Given the description of an element on the screen output the (x, y) to click on. 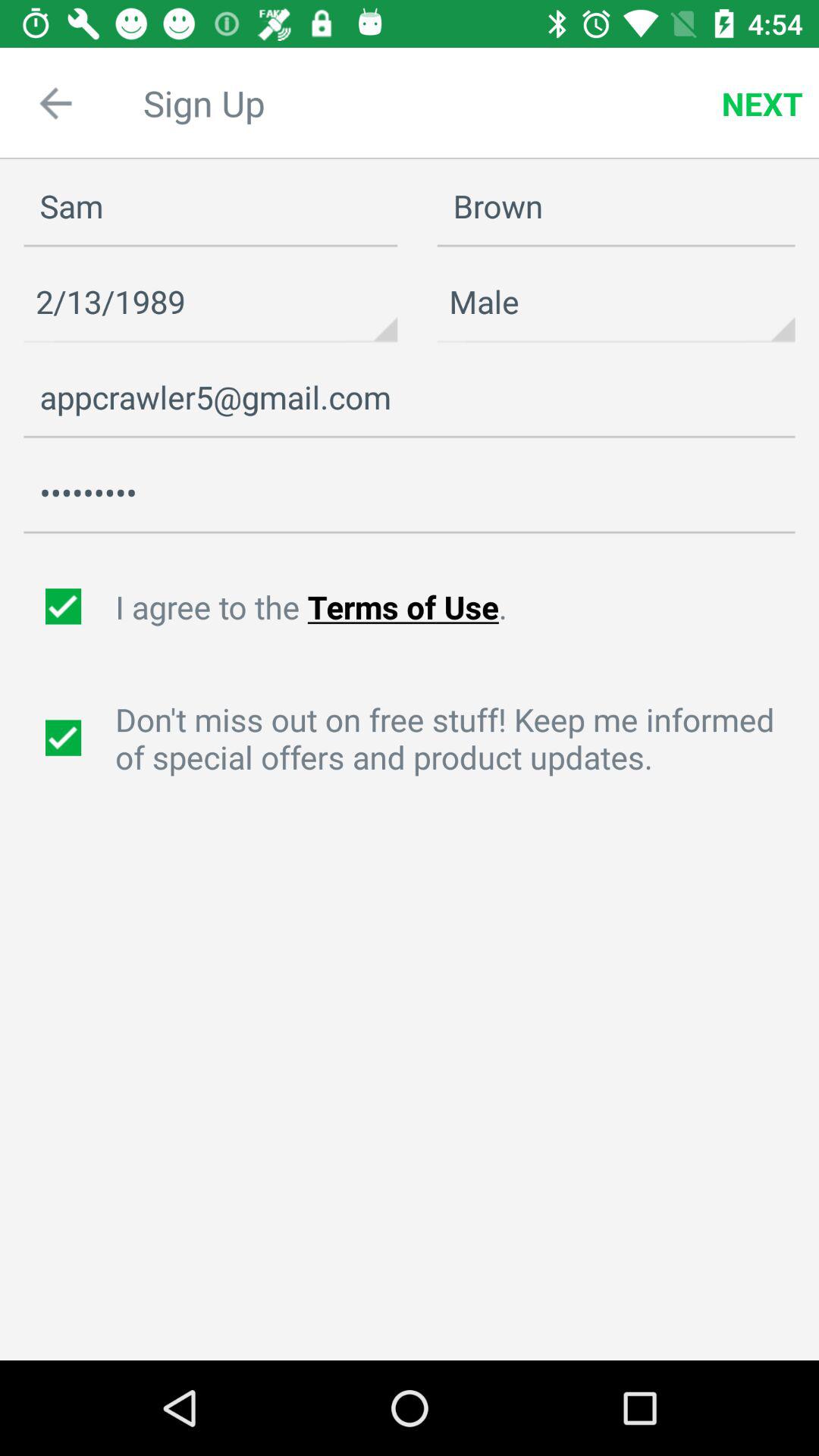
press icon to the left of the brown (210, 206)
